Given the description of an element on the screen output the (x, y) to click on. 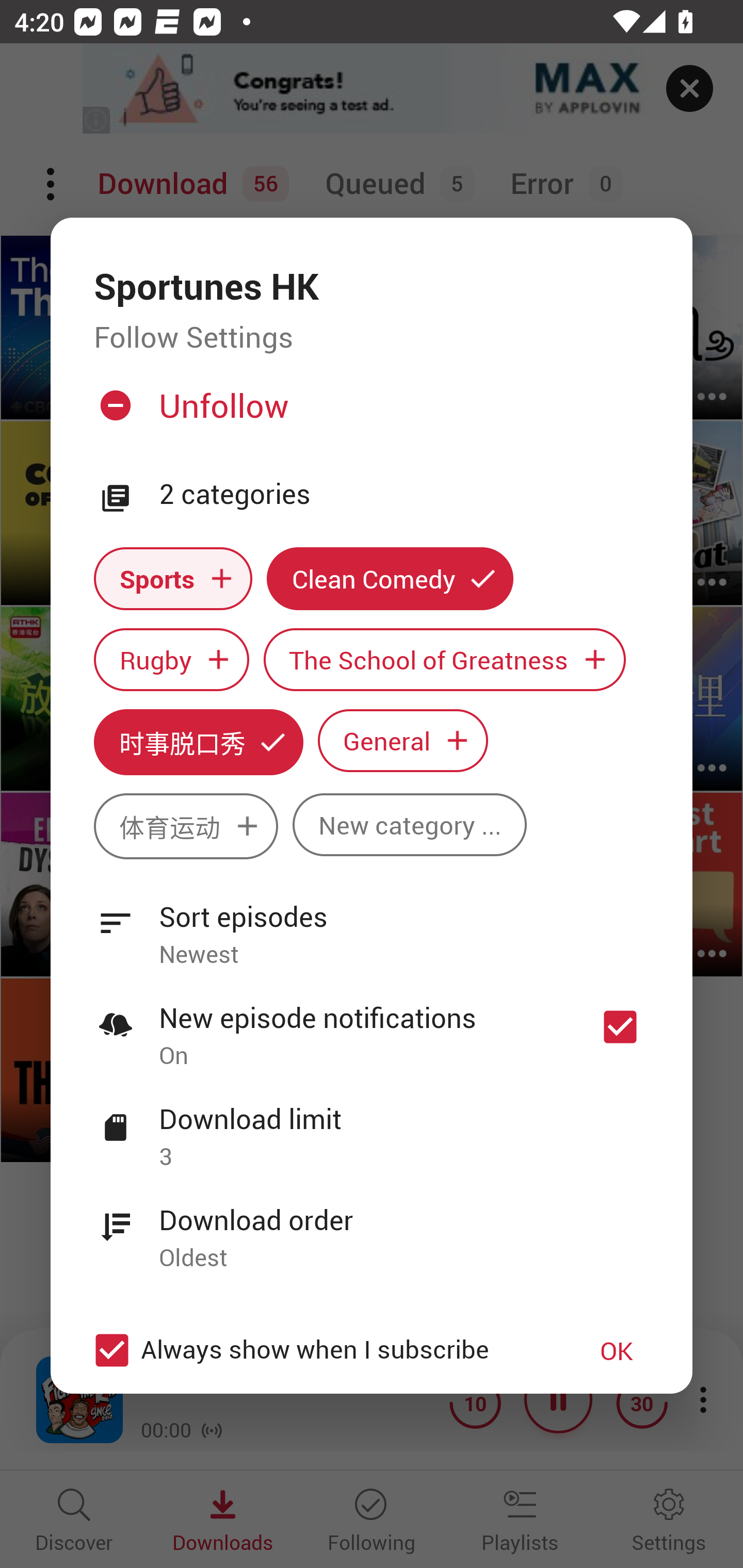
Unfollow (369, 413)
2 categories (404, 494)
Sports (172, 578)
Clean Comedy (389, 578)
Rugby (170, 659)
The School of Greatness (444, 659)
时事脱口秀 (198, 741)
General (403, 739)
体育运动 (185, 826)
New category ... (409, 824)
Sort episodes Newest (371, 924)
New episode notifications (620, 1026)
Download limit 3 (371, 1126)
Download order Oldest (371, 1227)
OK (616, 1350)
Always show when I subscribe (320, 1350)
